Given the description of an element on the screen output the (x, y) to click on. 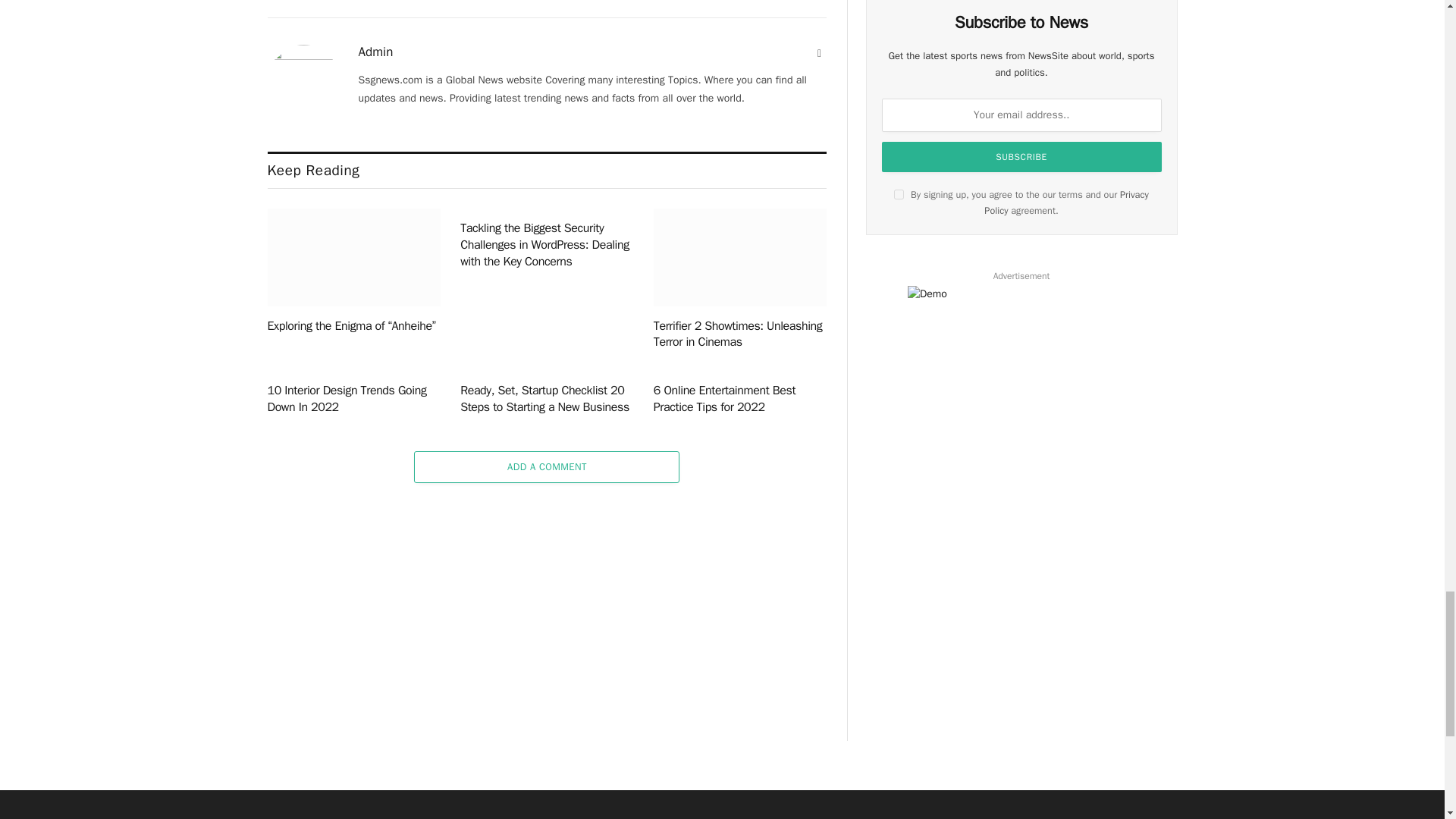
Website (818, 53)
Posts by Admin (375, 52)
on (898, 194)
Subscribe (1021, 156)
